Given the description of an element on the screen output the (x, y) to click on. 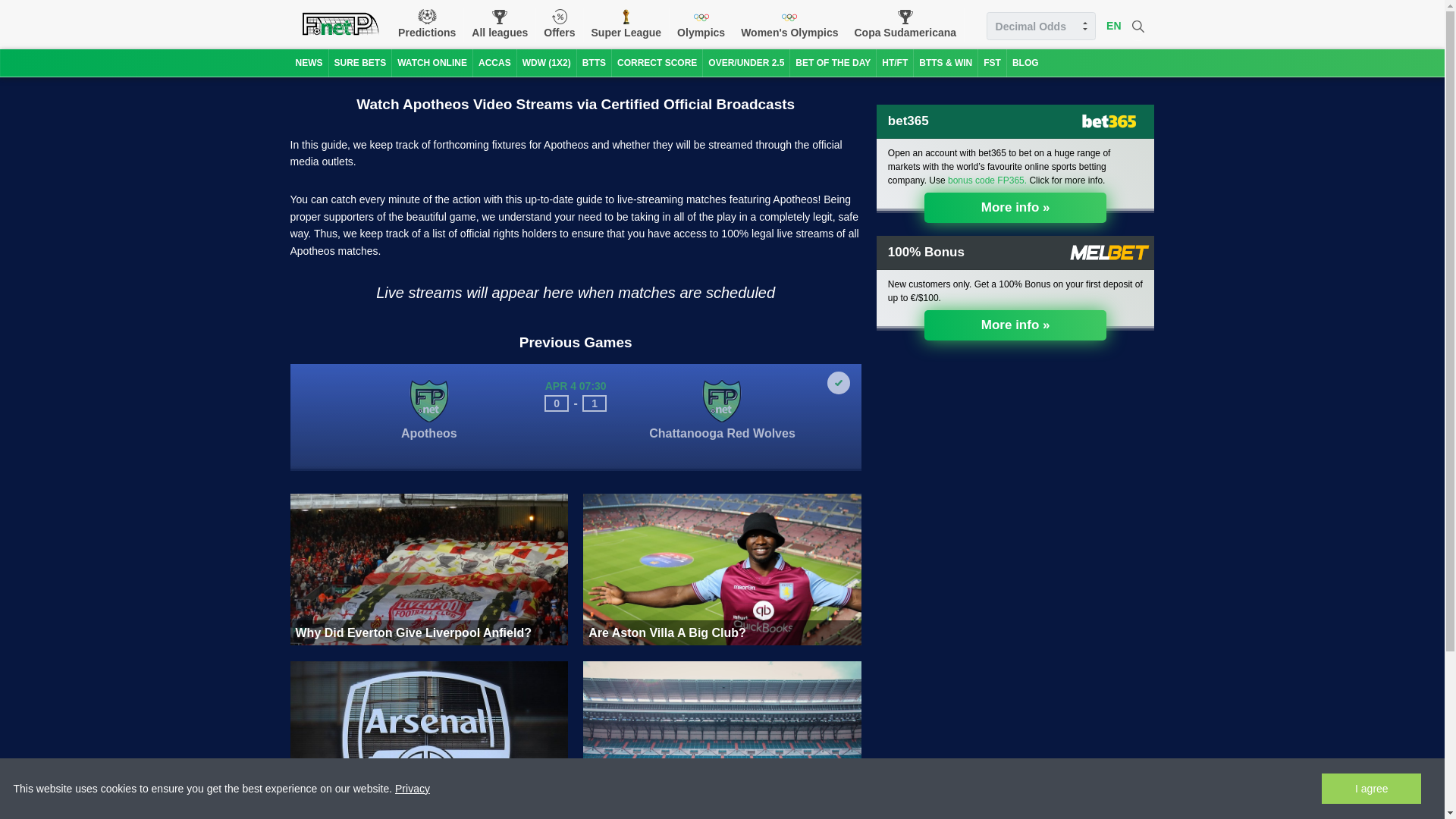
Super League (626, 24)
NEWS (308, 62)
Copa Sudamericana (904, 24)
Do Arsenal Have a Song? (428, 736)
All leagues (499, 24)
Are Aston Villa A Big Club? (722, 569)
ACCAS (494, 62)
BLOG (1025, 62)
CORRECT SCORE (656, 62)
Offers (558, 24)
Women's Olympics (789, 24)
BET OF THE DAY (833, 62)
Olympics (700, 24)
Why Did Everton Give Liverpool Anfield? (428, 569)
FST (992, 62)
